Given the description of an element on the screen output the (x, y) to click on. 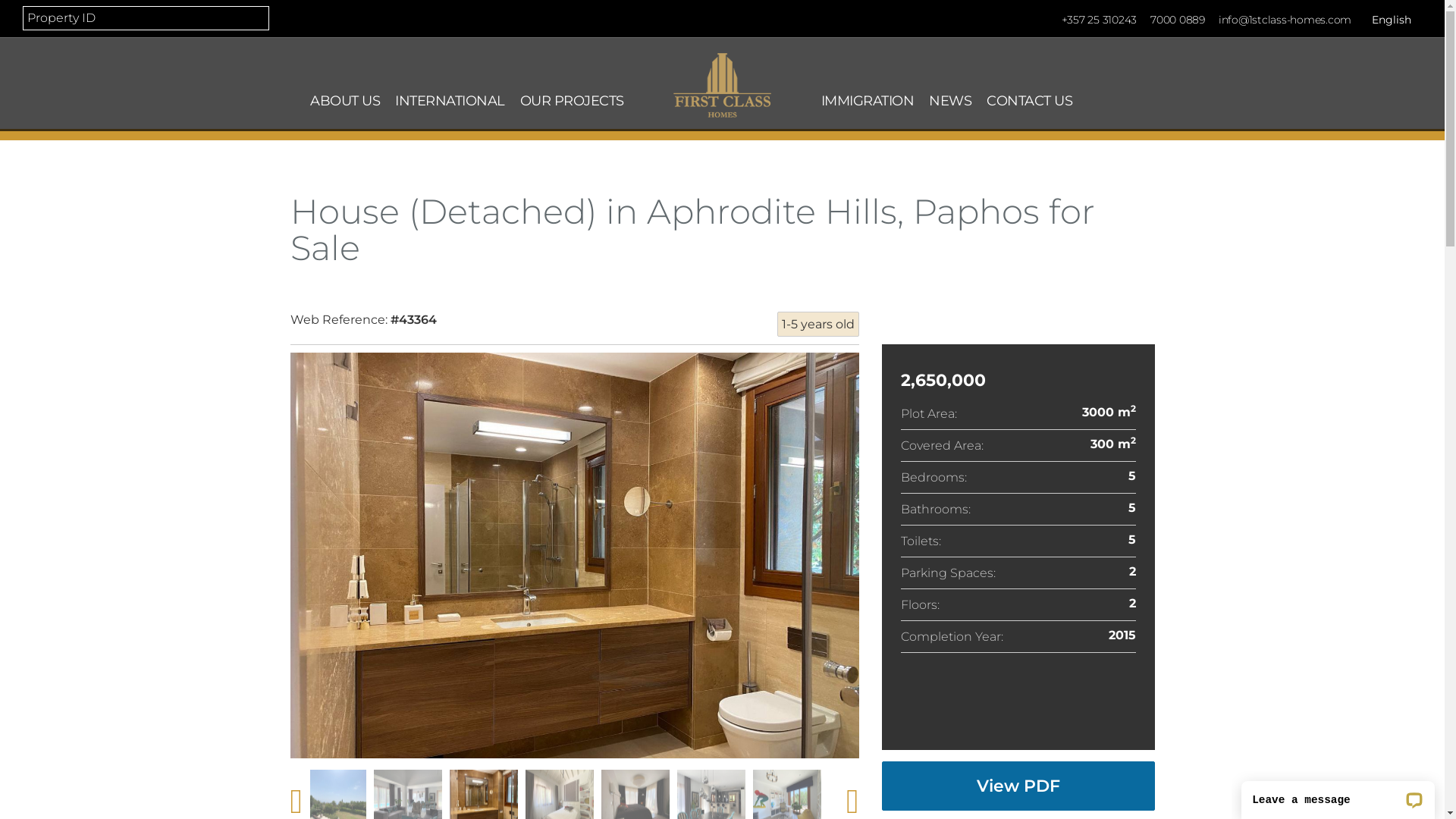
OUR PROJECTS Element type: text (571, 100)
ABOUT US Element type: text (344, 100)
INTERNATIONAL Element type: text (449, 100)
info@1stclass-homes.com Element type: text (1284, 19)
NEWS Element type: text (950, 100)
CONTACT US Element type: text (1029, 100)
IMMIGRATION Element type: text (866, 100)
View PDF Element type: text (1017, 785)
7000 0889 Element type: text (1177, 19)
+357 25 310243 Element type: text (1099, 19)
 English Element type: text (1389, 19)
